Given the description of an element on the screen output the (x, y) to click on. 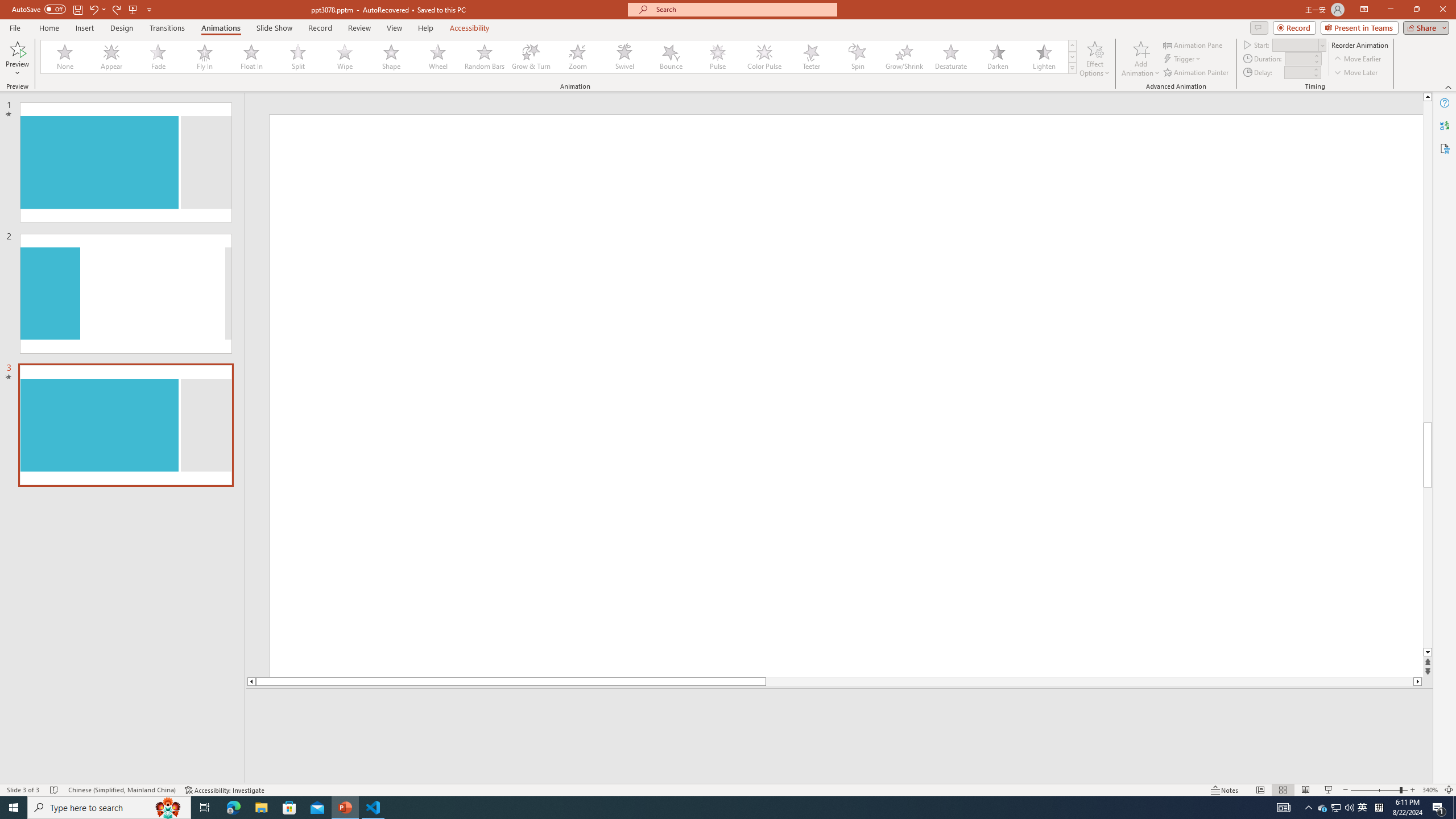
Darken (997, 56)
Animation Styles (1071, 67)
Wipe (344, 56)
Effect Options (1094, 58)
Grow & Turn (531, 56)
